Given the description of an element on the screen output the (x, y) to click on. 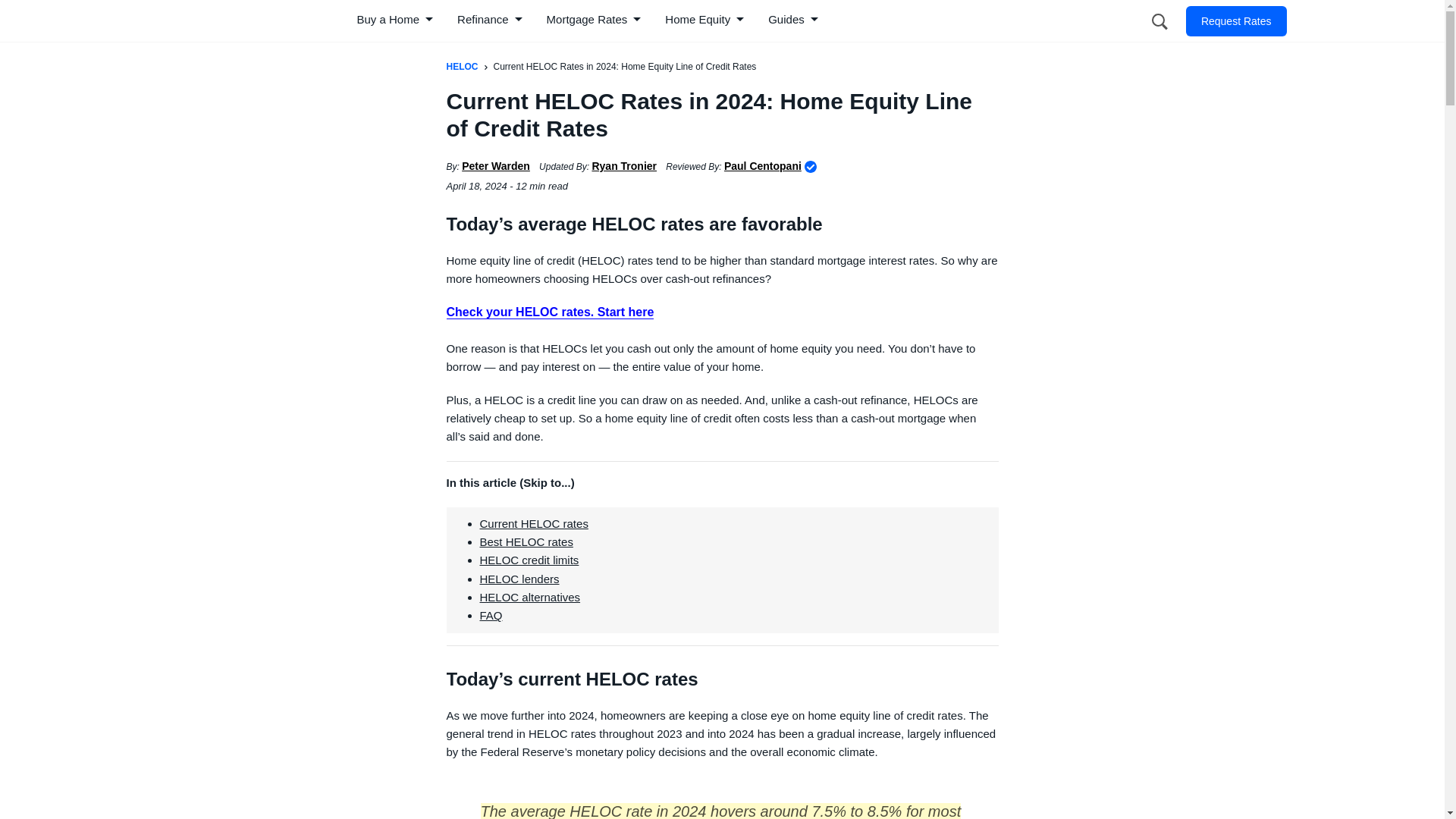
Refinance (491, 20)
Buy a Home (395, 20)
Reviewed By Paul Centopani (762, 165)
By Peter Warden (495, 165)
Updated By Ryan Tronier (623, 165)
